Given the description of an element on the screen output the (x, y) to click on. 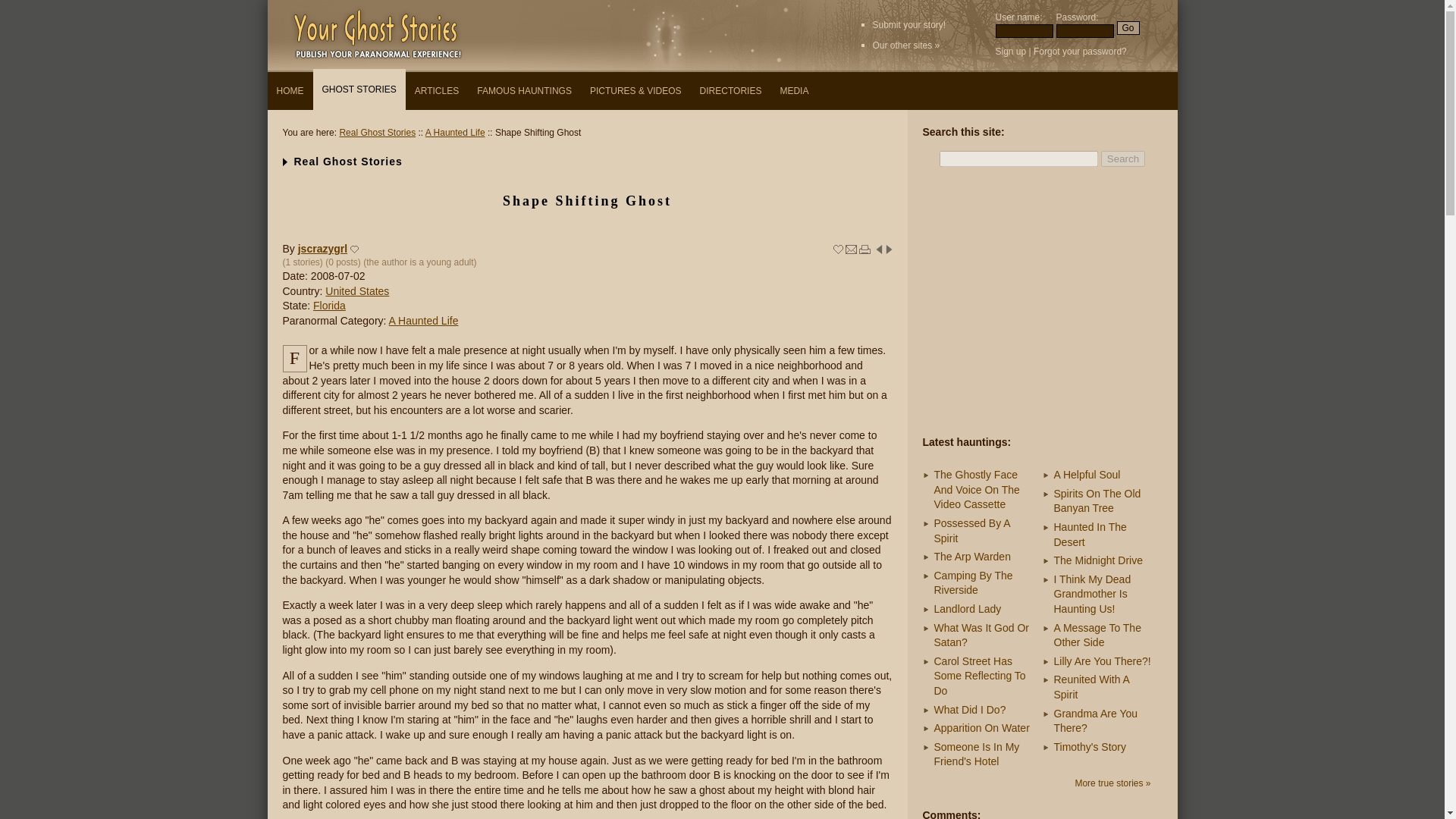
Send this story to a friend (851, 248)
Add to your favorite stories (837, 248)
MEDIA (793, 90)
HOME (289, 90)
Go (1127, 28)
DIRECTORIES (730, 90)
A Haunted Life (423, 320)
jscrazygrl (322, 248)
Add jscrazygrl to your favorite people (354, 248)
Submit your story! (908, 24)
GHOST STORIES (358, 88)
Print this story (864, 248)
Add jscrazygrl to your favorite people (354, 248)
Advertisement (1041, 303)
Sign up (1010, 50)
